Given the description of an element on the screen output the (x, y) to click on. 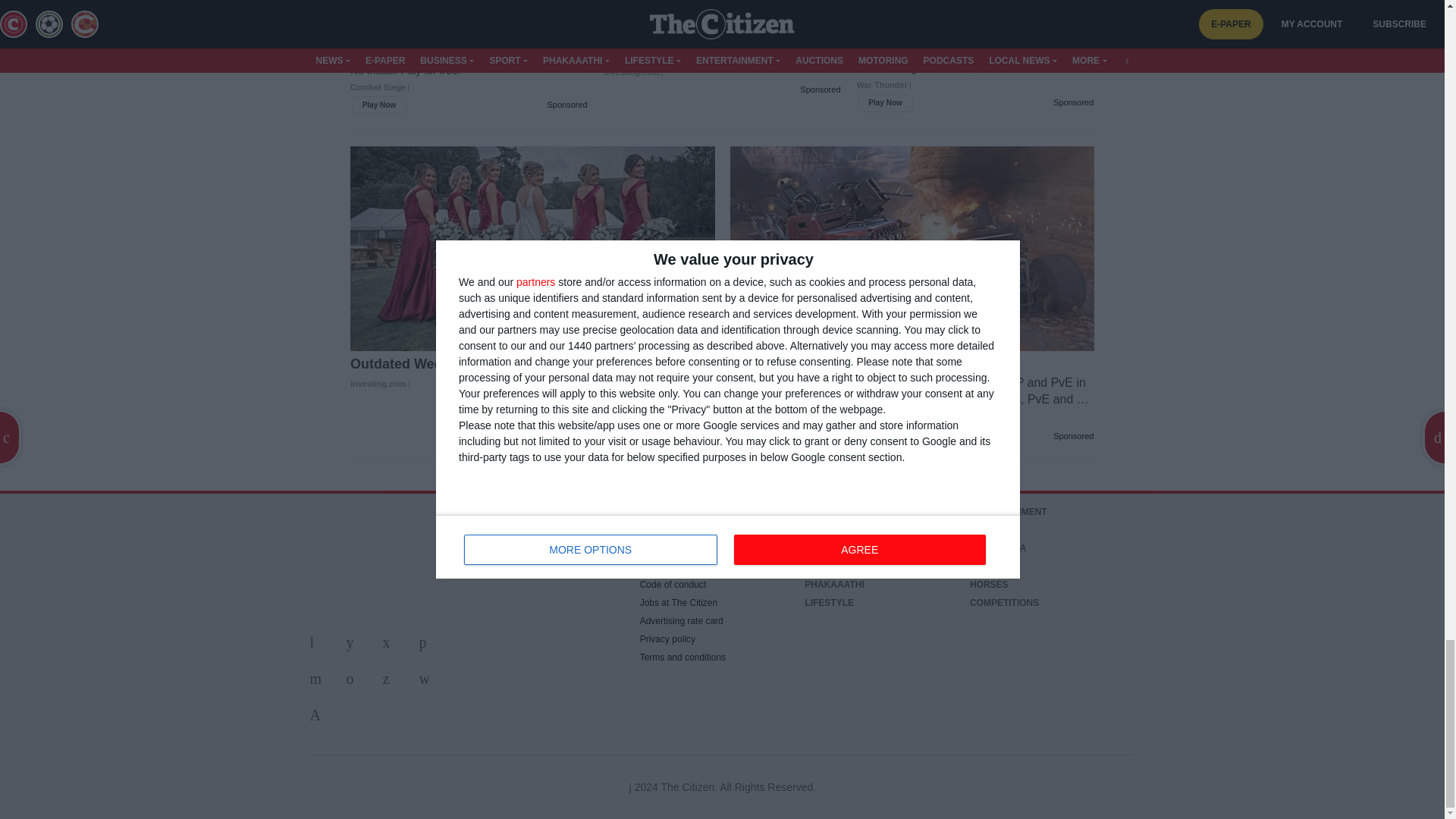
Mckayla Maroney Is Definitely Not a Gymnast Anymore (722, 54)
